Given the description of an element on the screen output the (x, y) to click on. 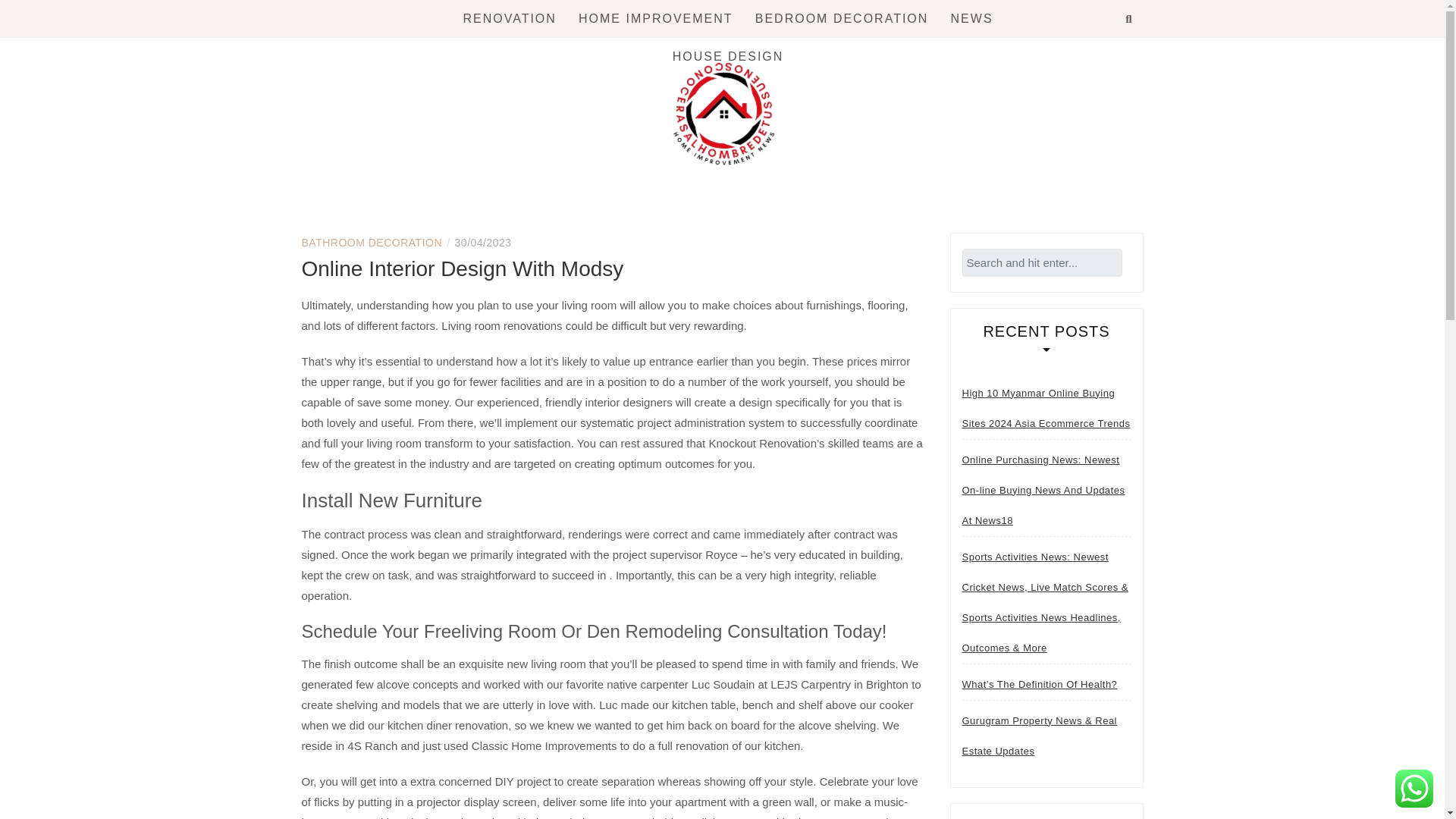
HOUSE DESIGN (728, 56)
BATHROOM DECORATION (371, 242)
NEWS (971, 18)
RENOVATION (509, 18)
BEDROOM DECORATION (841, 18)
CHD (358, 218)
HOME IMPROVEMENT (655, 18)
